Given the description of an element on the screen output the (x, y) to click on. 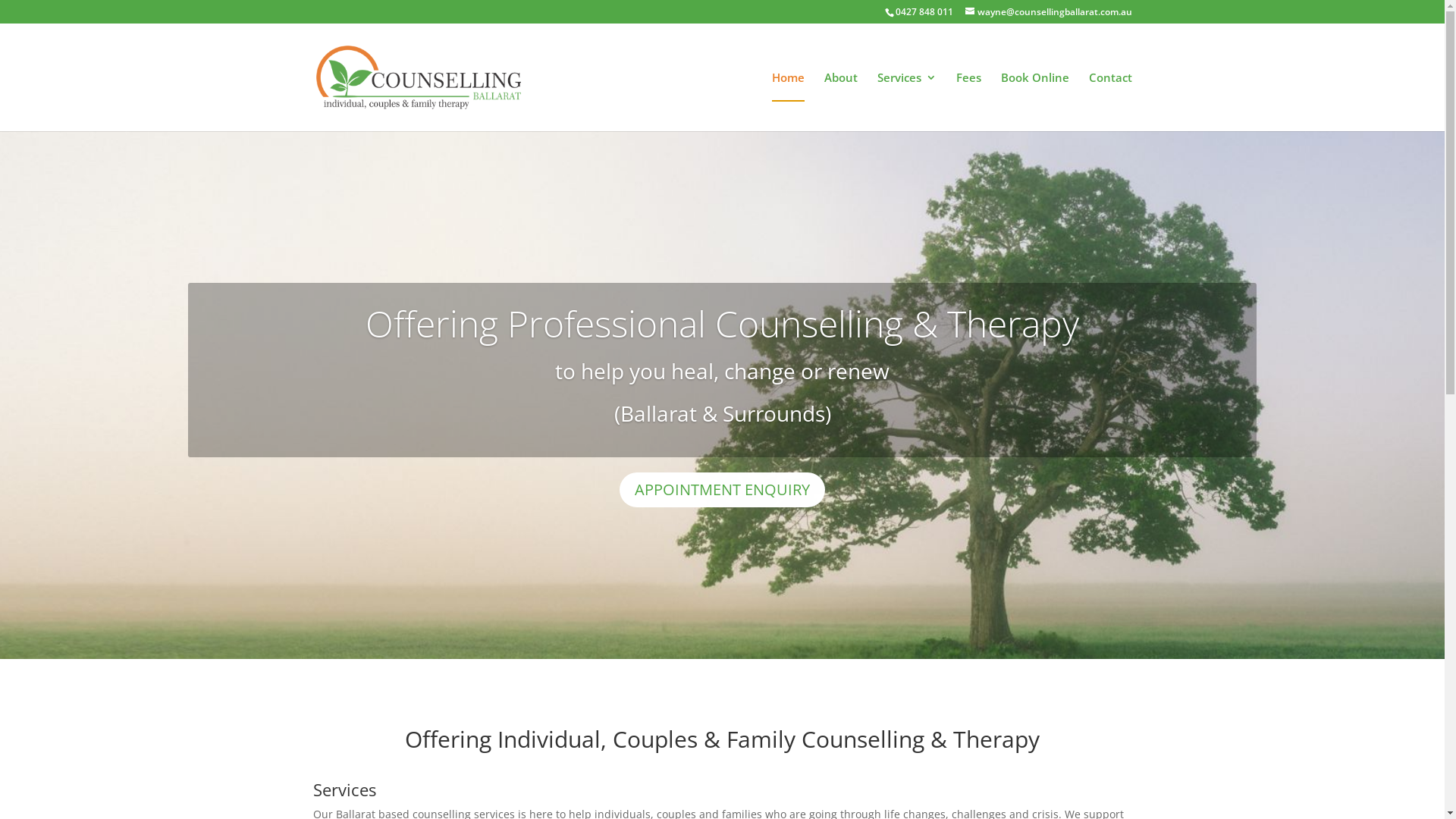
0427 848 011 Element type: text (923, 11)
Fees Element type: text (967, 101)
wayne@counsellingballarat.com.au Element type: text (1047, 11)
Book Online Element type: text (1035, 101)
APPOINTMENT ENQUIRY Element type: text (722, 489)
Contact Element type: text (1110, 101)
Offering Professional Counselling & Therapy Element type: text (722, 323)
About Element type: text (839, 101)
Services Element type: text (905, 101)
Home Element type: text (787, 101)
